Given the description of an element on the screen output the (x, y) to click on. 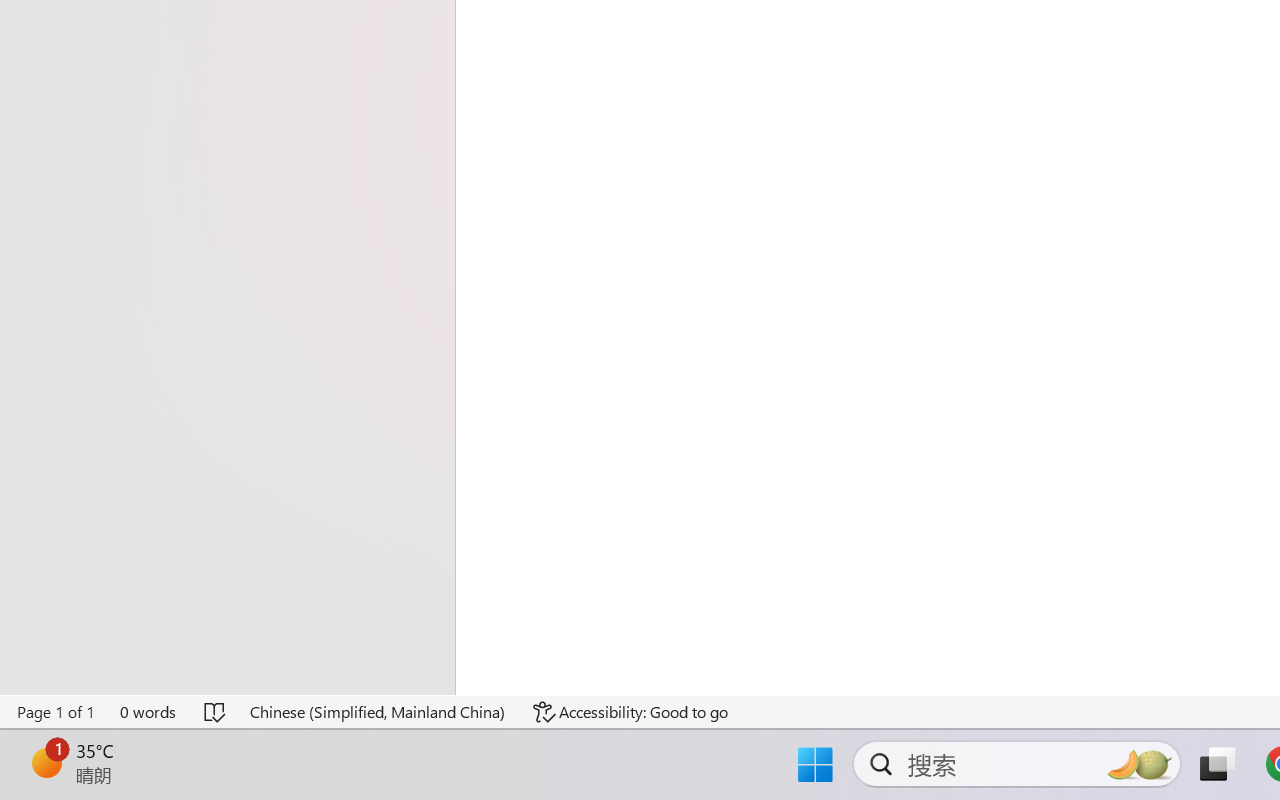
Language Chinese (Simplified, Mainland China) (378, 712)
